Given the description of an element on the screen output the (x, y) to click on. 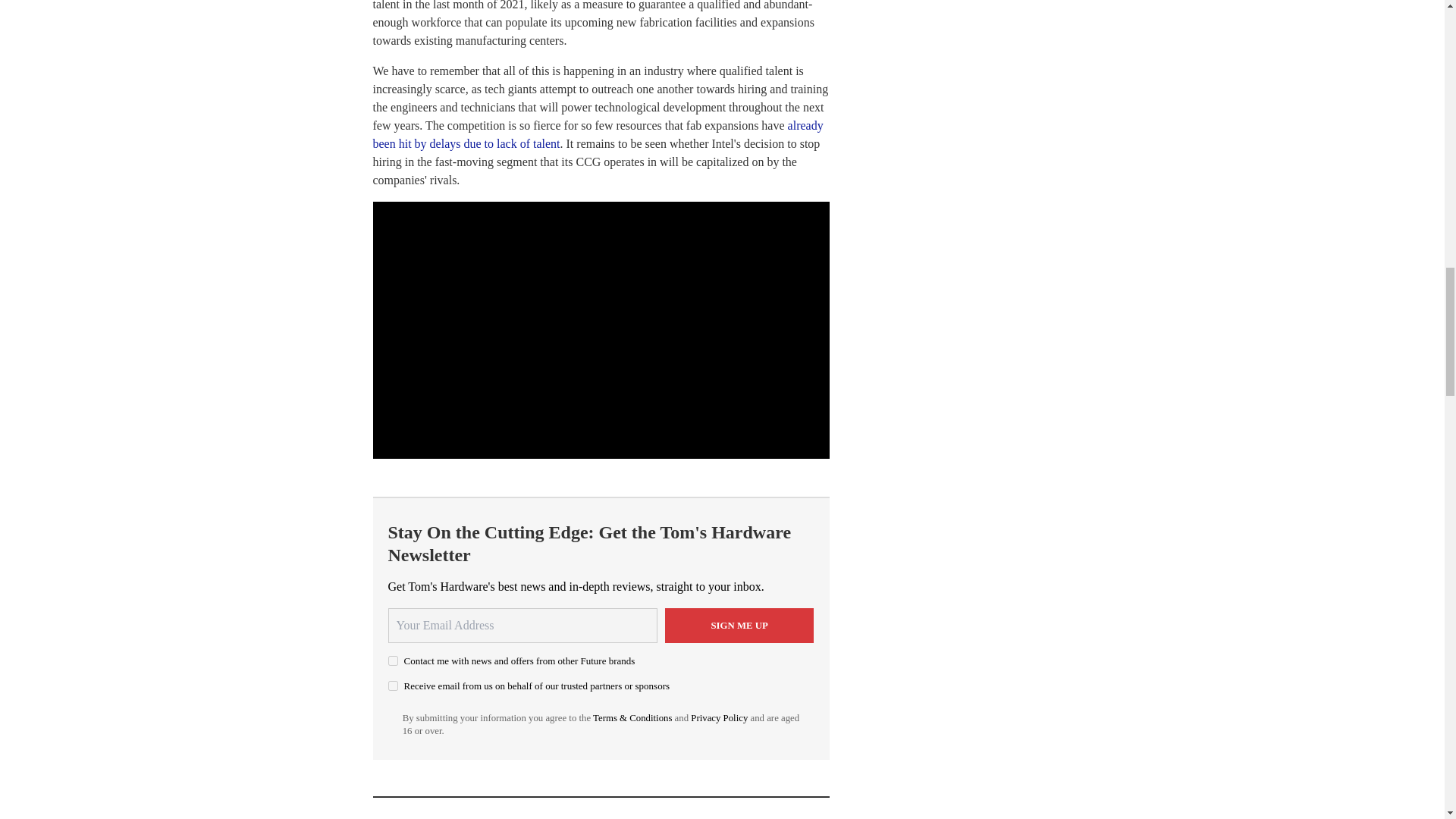
on (392, 685)
on (392, 660)
Sign me up (739, 625)
